Given the description of an element on the screen output the (x, y) to click on. 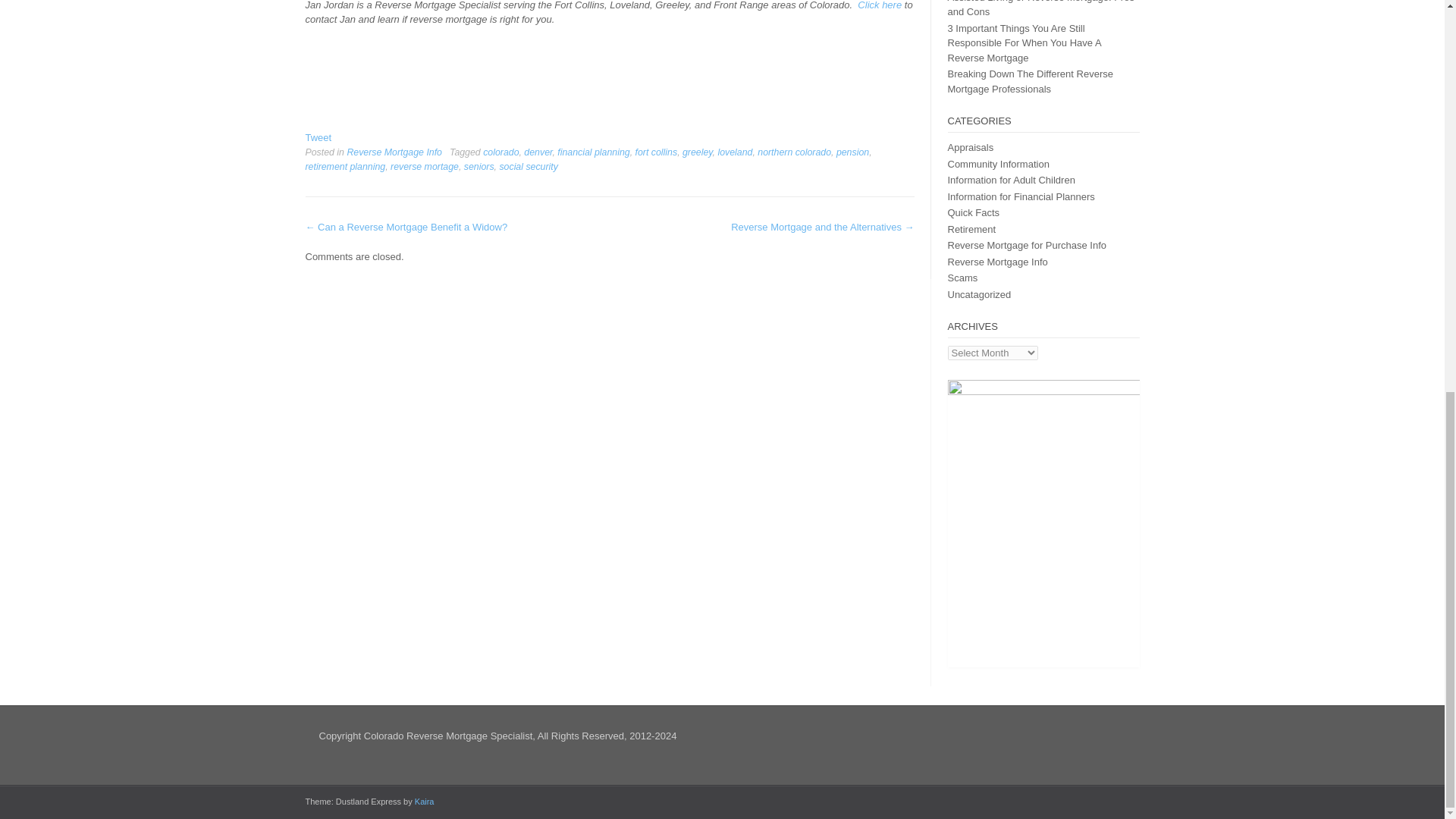
greeley (697, 152)
financial planning (592, 152)
northern colorado (794, 152)
reverse mortage (424, 166)
pension (852, 152)
Click here (879, 5)
Tweet (317, 137)
seniors (479, 166)
fort collins (656, 152)
colorado (500, 152)
